Given the description of an element on the screen output the (x, y) to click on. 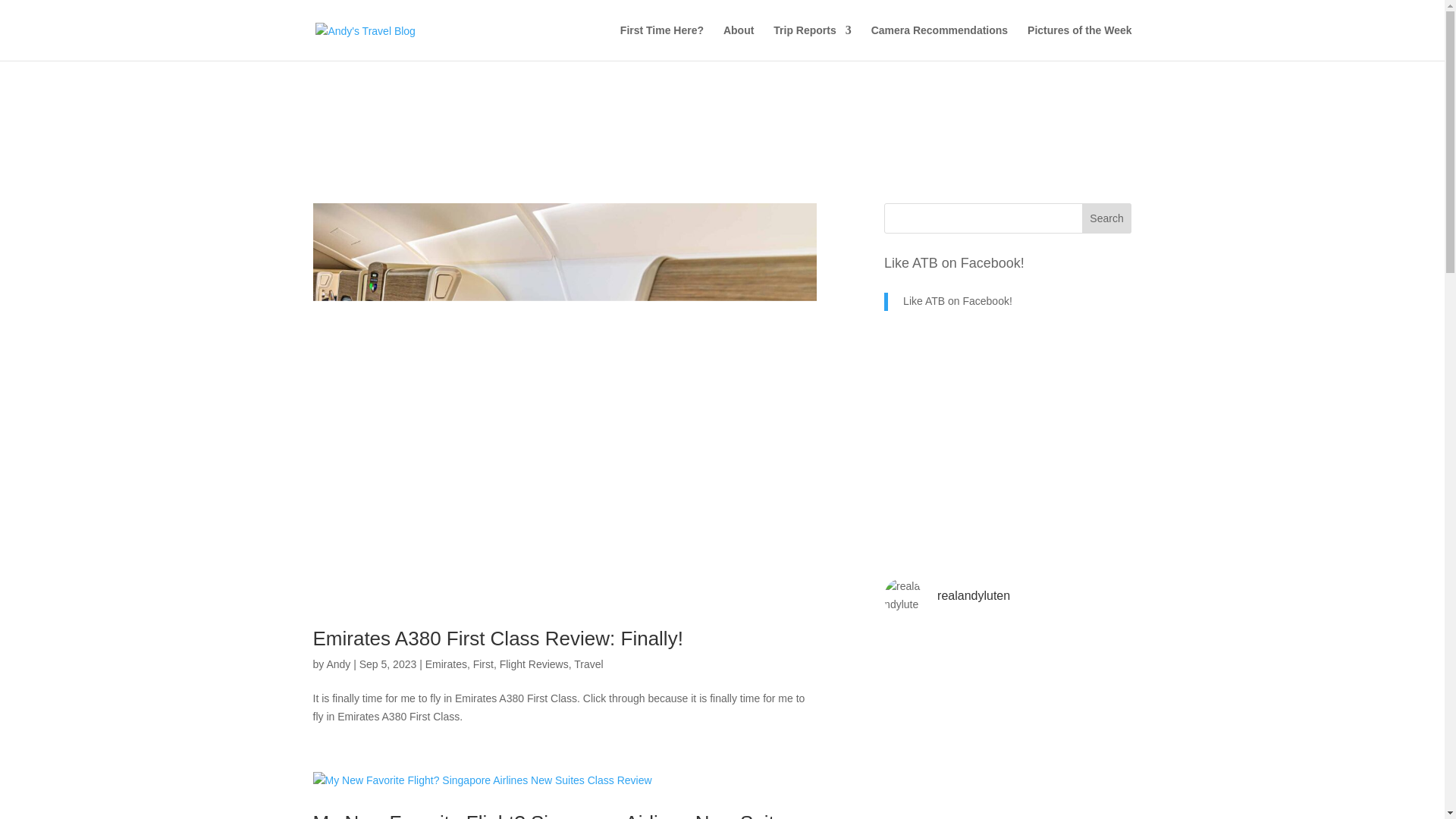
Posts by Andy (338, 664)
Andy (338, 664)
Camera Recommendations (939, 42)
Emirates (446, 664)
Pictures of the Week (1079, 42)
First Time Here? (661, 42)
First (483, 664)
Travel (587, 664)
Flight Reviews (534, 664)
